Given the description of an element on the screen output the (x, y) to click on. 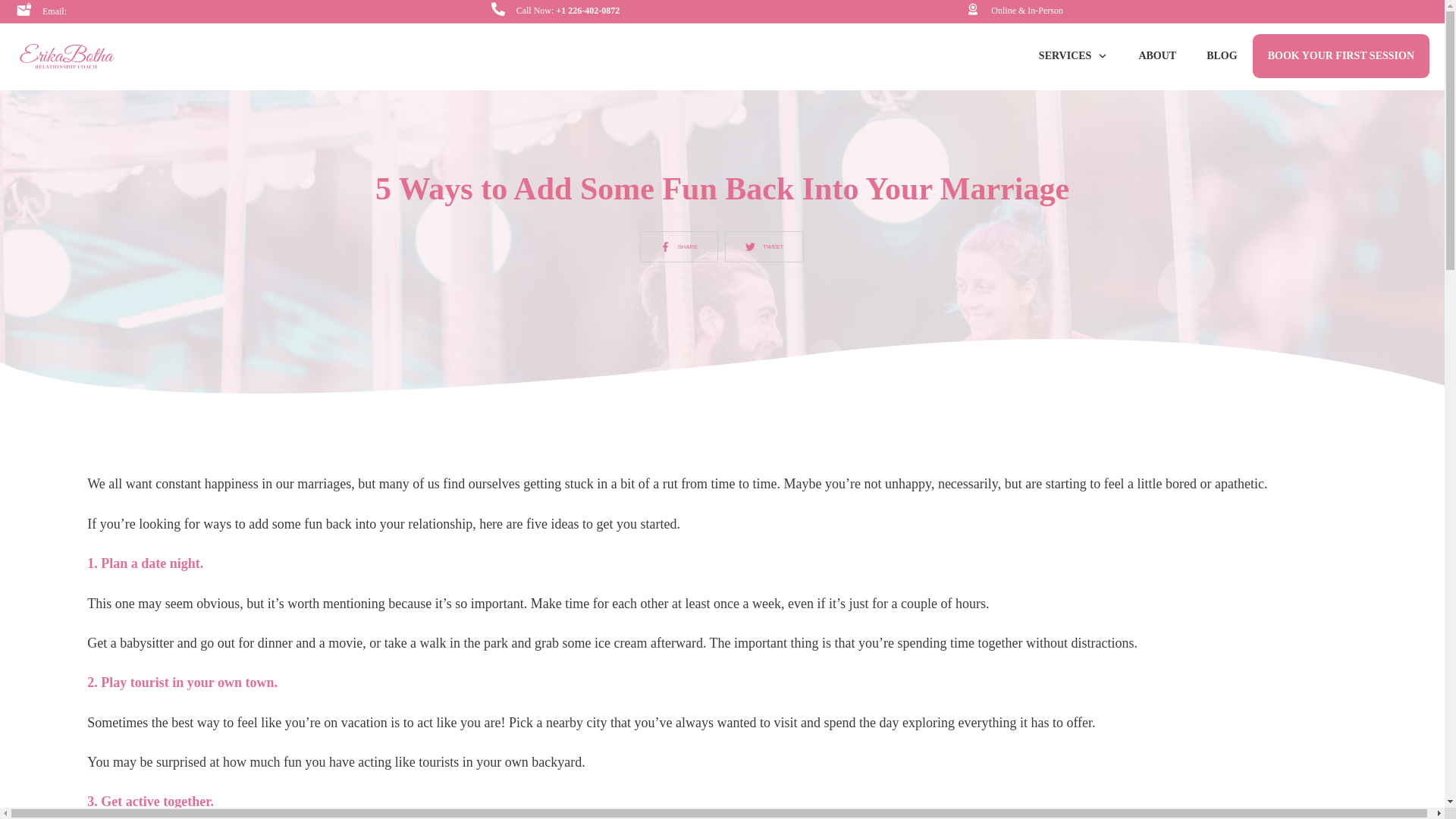
BOOK YOUR FIRST SESSION (1340, 55)
TWEET (764, 246)
ABOUT (1157, 55)
BLOG (1221, 55)
SERVICES (1073, 55)
SHARE (679, 246)
